Given the description of an element on the screen output the (x, y) to click on. 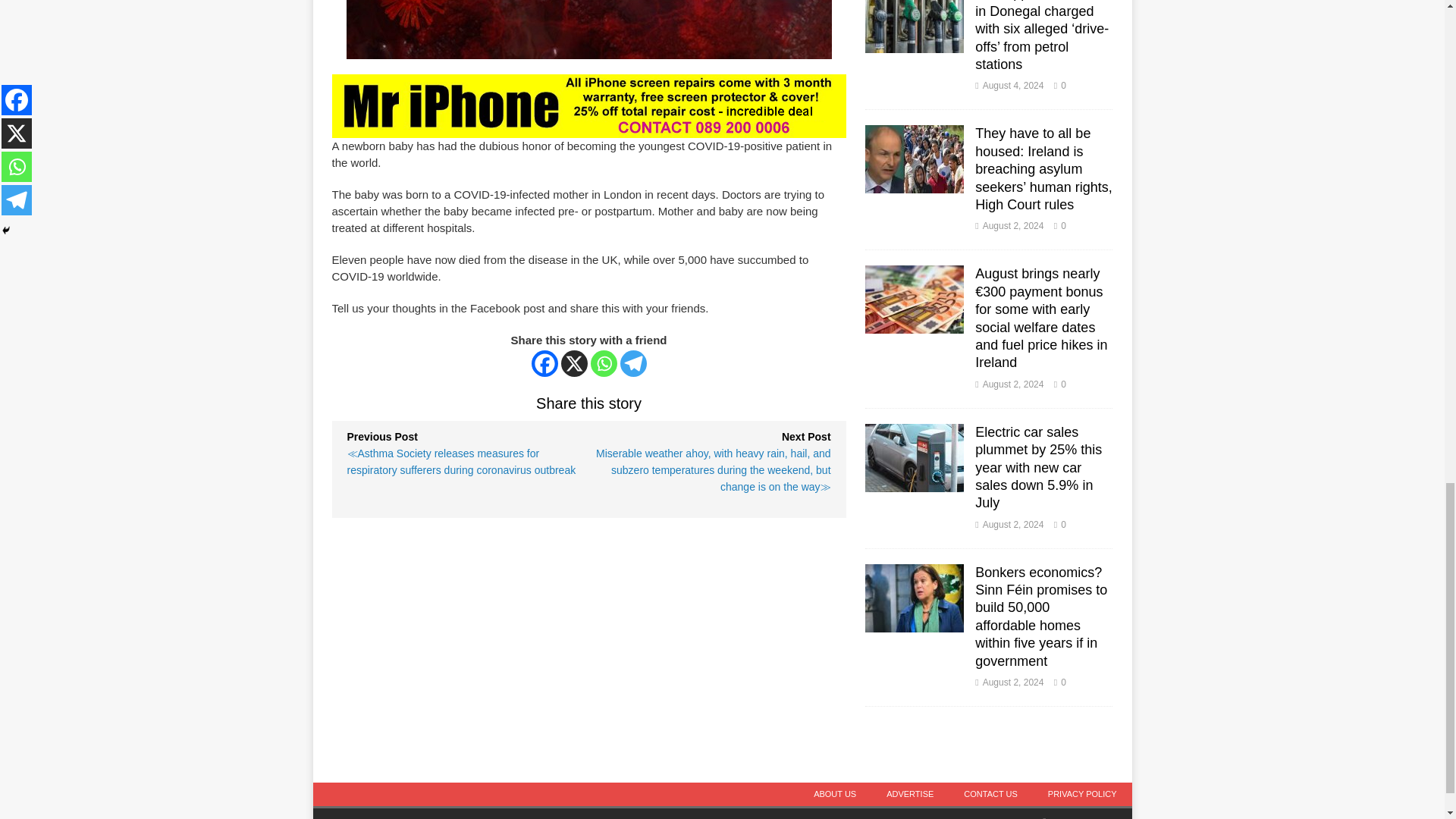
Whatsapp (604, 363)
Facebook (544, 363)
X (574, 363)
Telegram (633, 363)
